Given the description of an element on the screen output the (x, y) to click on. 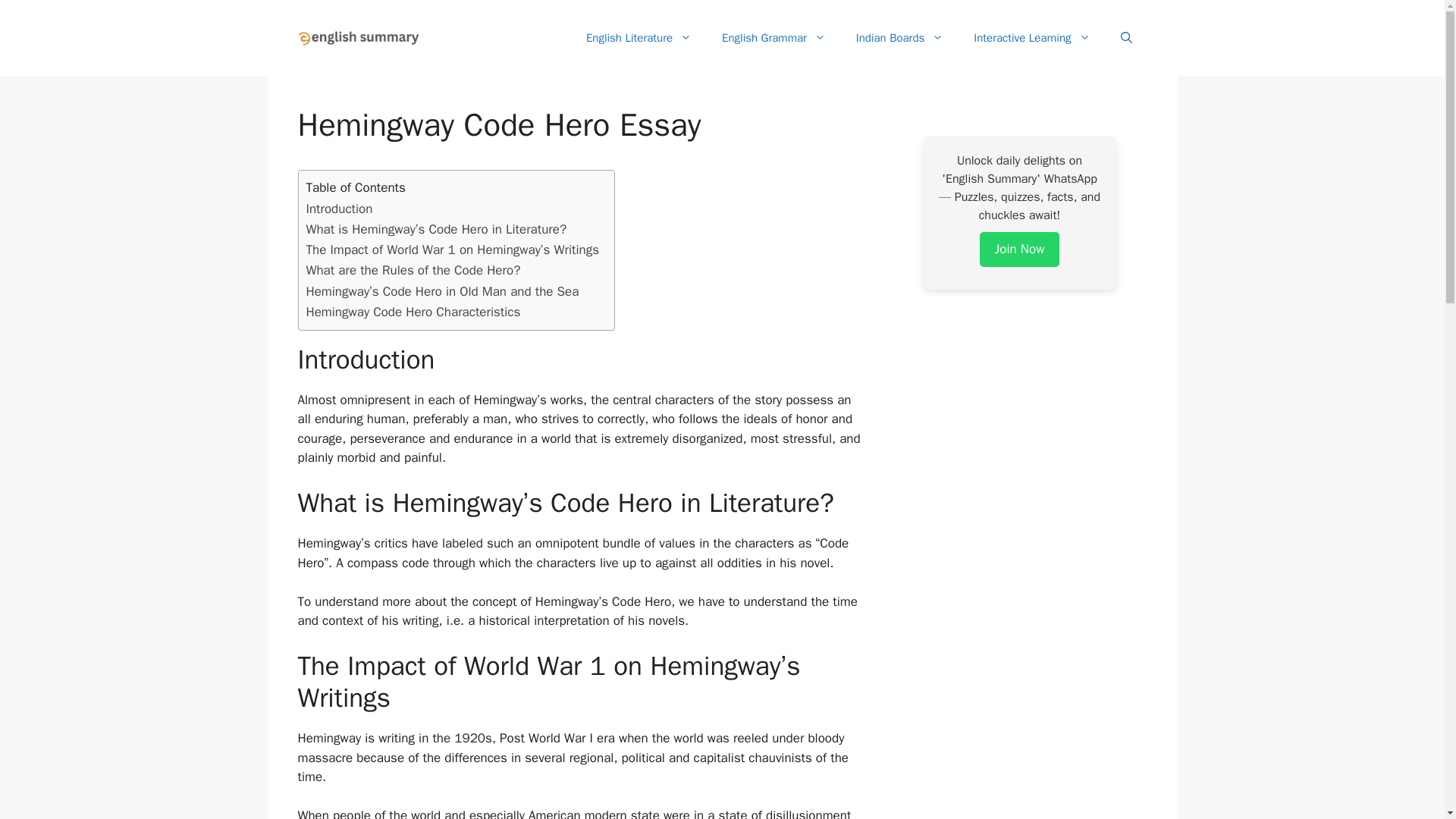
What are the Rules of the Code Hero? (413, 270)
Introduction (338, 209)
English Grammar (773, 37)
Interactive Learning (1031, 37)
English Literature (638, 37)
Hemingway Code Hero Characteristics (413, 312)
Indian Boards (899, 37)
